Given the description of an element on the screen output the (x, y) to click on. 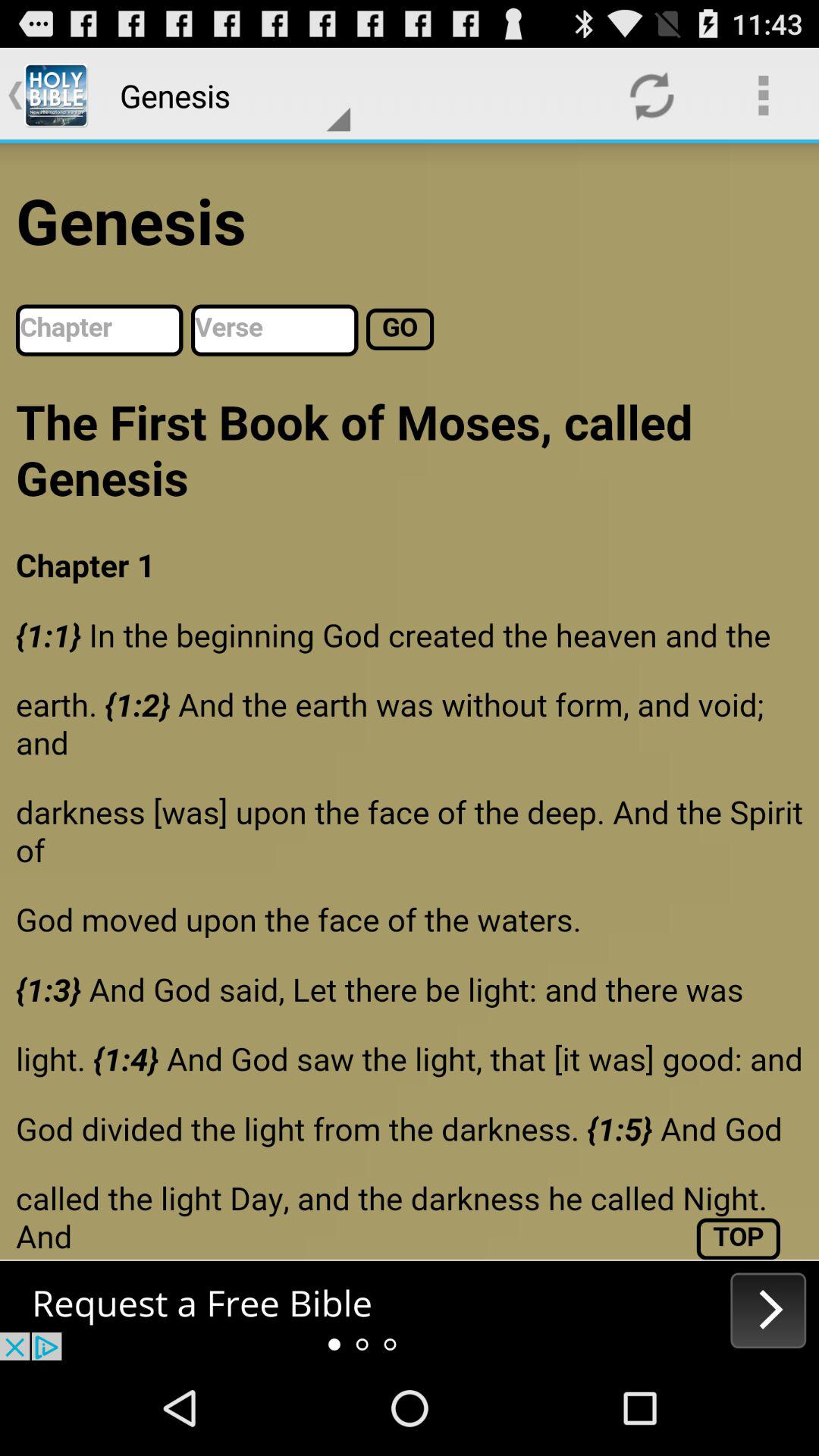
click to the next option (409, 1310)
